Given the description of an element on the screen output the (x, y) to click on. 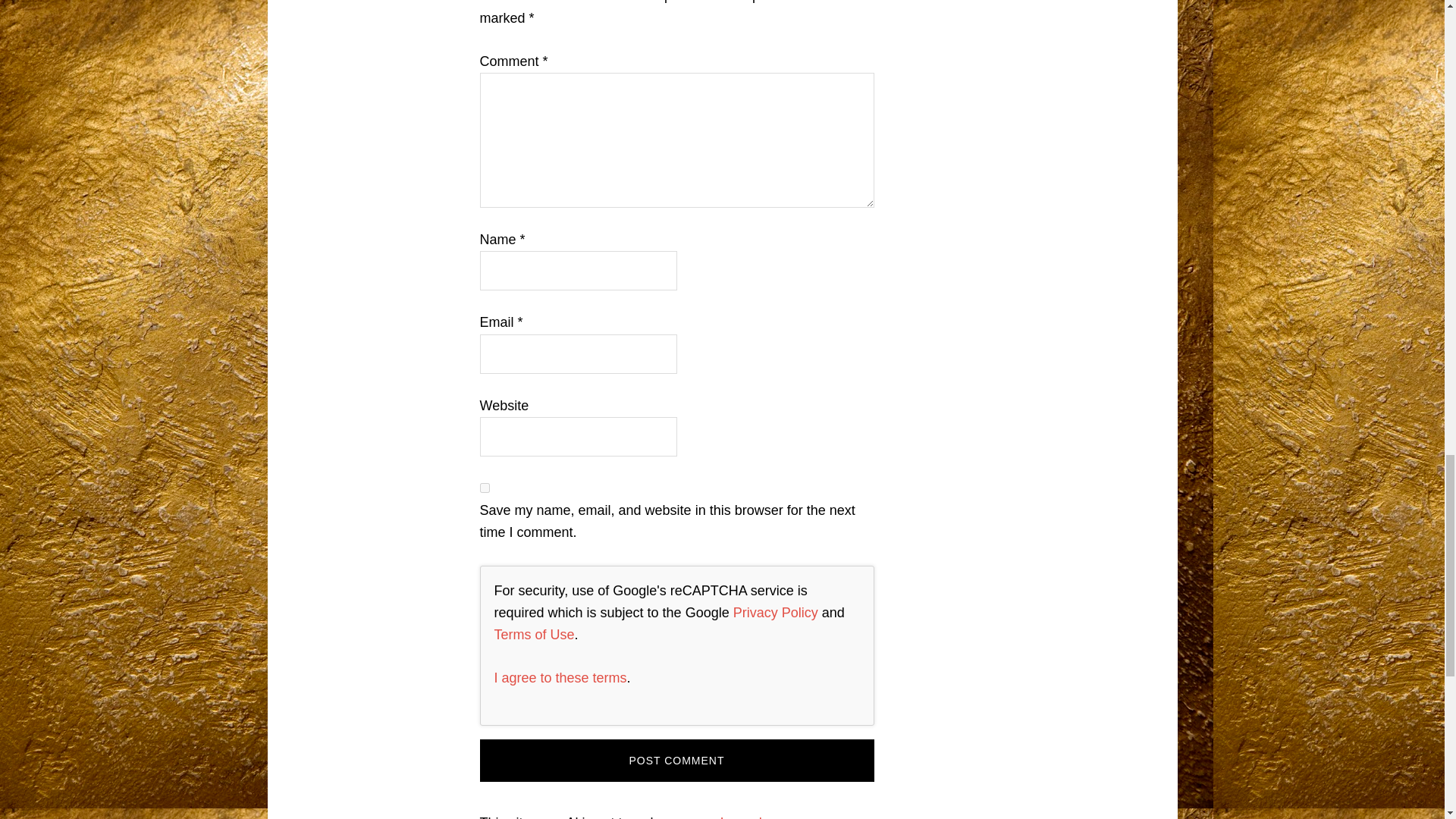
Privacy Policy (775, 612)
Post Comment (676, 760)
I agree to these terms (561, 677)
Post Comment (676, 760)
yes (484, 488)
Terms of Use (535, 634)
Learn how your comment data is processed (646, 816)
